Given the description of an element on the screen output the (x, y) to click on. 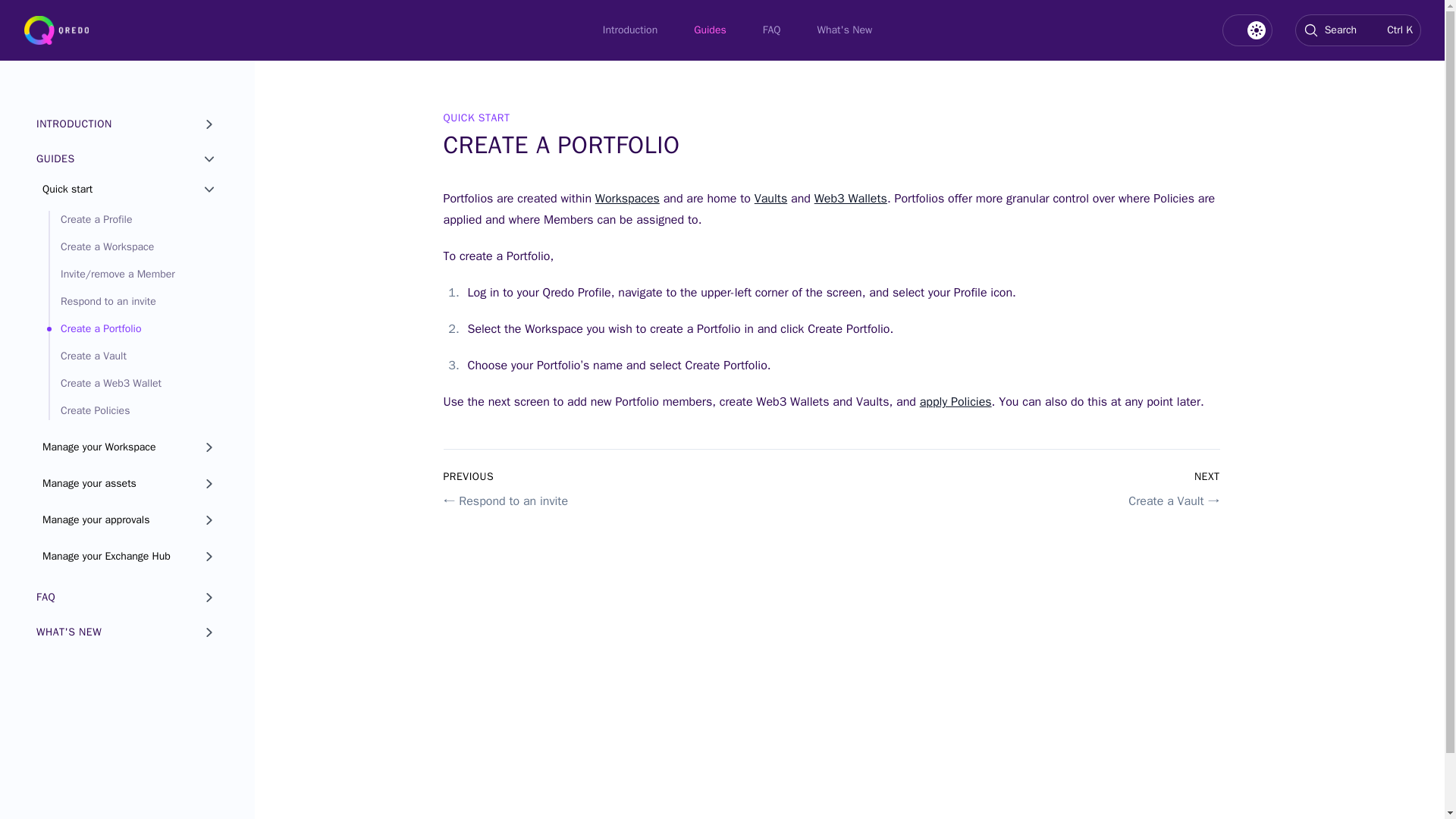
Manage your Workspace (130, 447)
Create a Vault (133, 356)
Create a Web3 Wallet (133, 383)
Create a Portfolio (133, 329)
GUIDES (127, 159)
Introduction (630, 30)
FAQ (771, 30)
Quick start (130, 189)
INTRODUCTION (127, 123)
What's New (844, 30)
Create a Workspace (133, 247)
Create Policies (133, 411)
Respond to an invite (133, 301)
Create a Profile (133, 219)
Guides (710, 30)
